Given the description of an element on the screen output the (x, y) to click on. 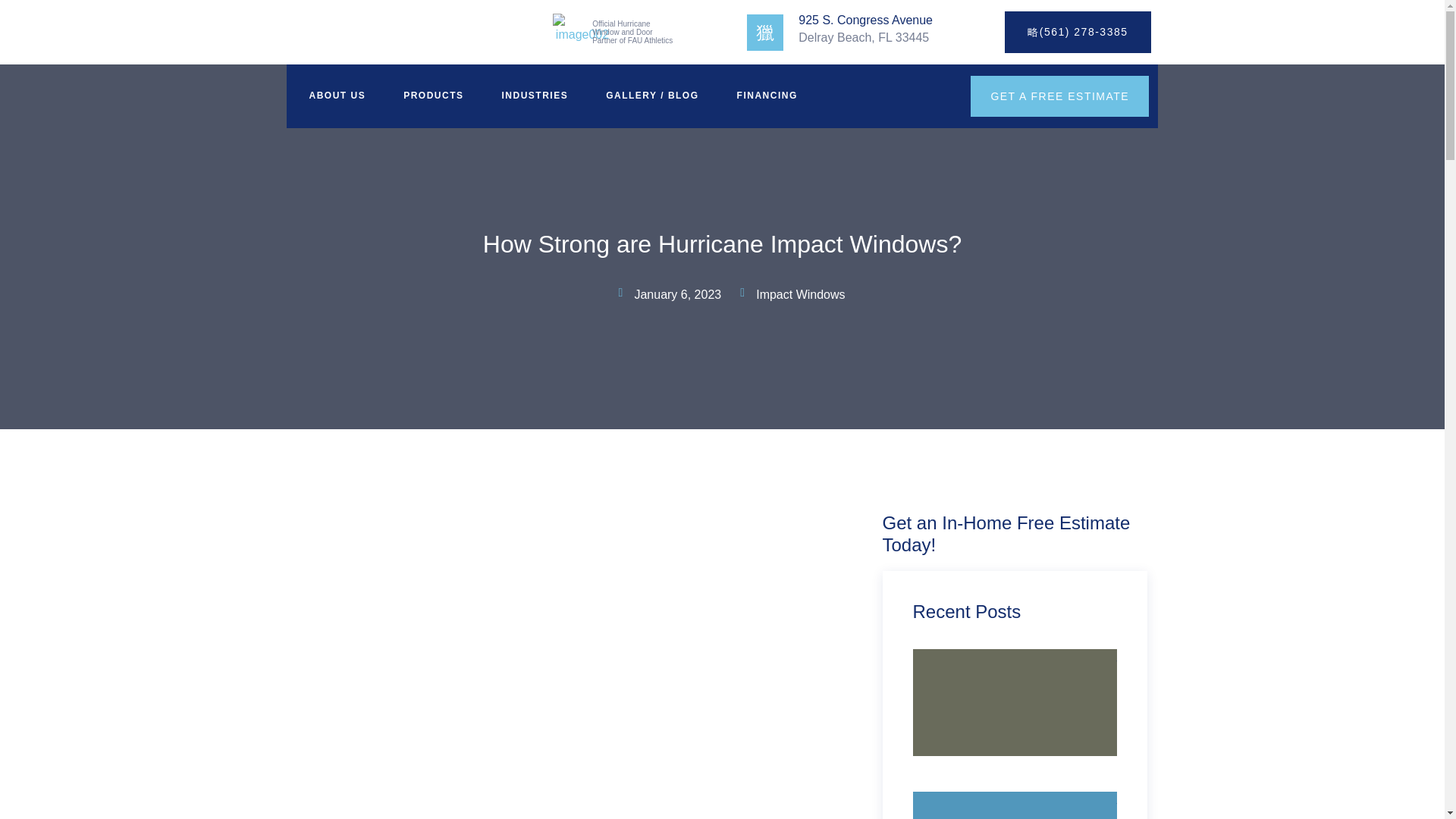
GET A FREE ESTIMATE (1059, 96)
PRODUCTS (429, 95)
INDUSTRIES (531, 95)
925 S. Congress Avenue (865, 19)
ABOUT US (333, 95)
FINANCING (763, 95)
image002 (581, 32)
